Given the description of an element on the screen output the (x, y) to click on. 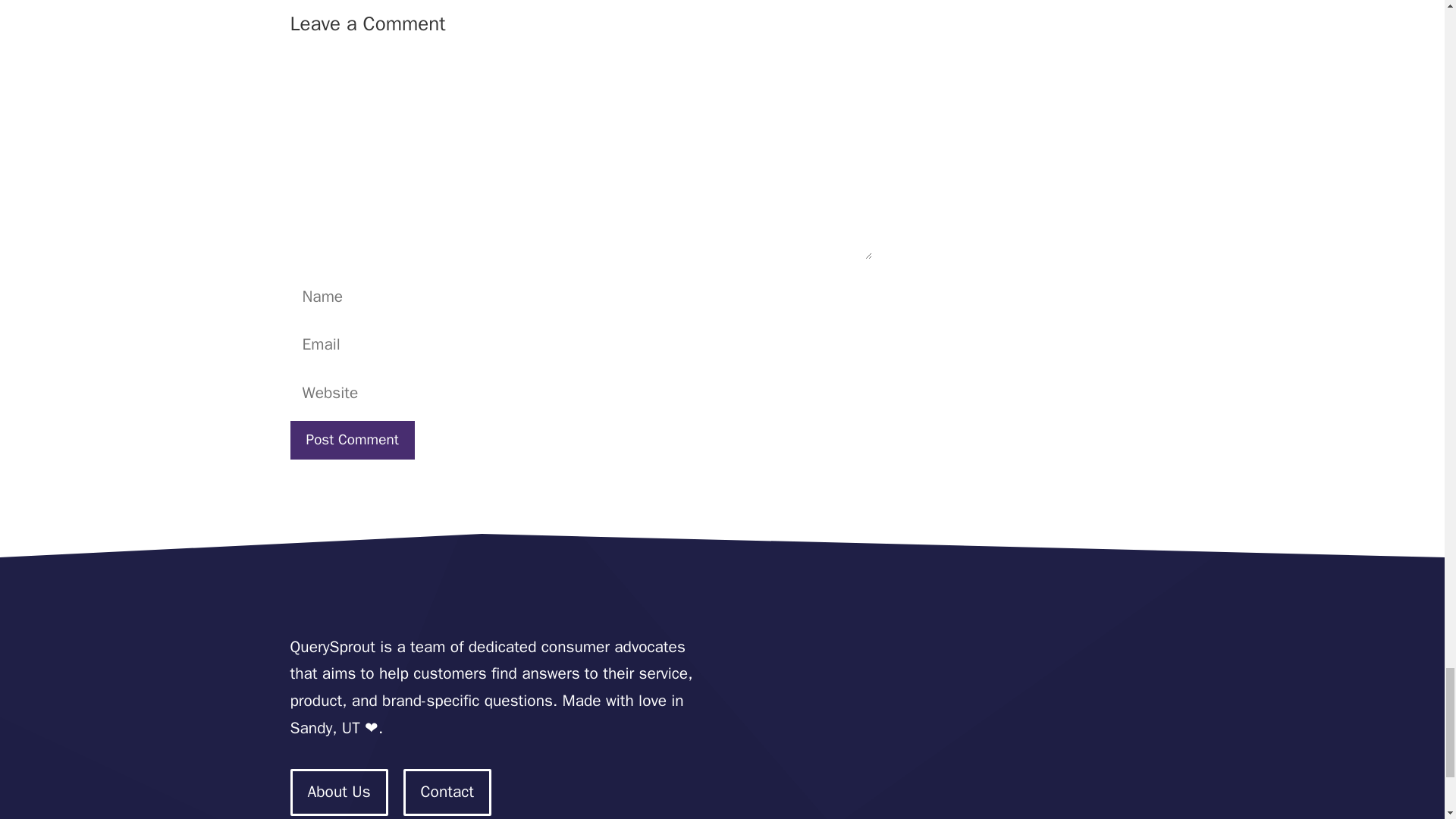
Post Comment (351, 439)
